Given the description of an element on the screen output the (x, y) to click on. 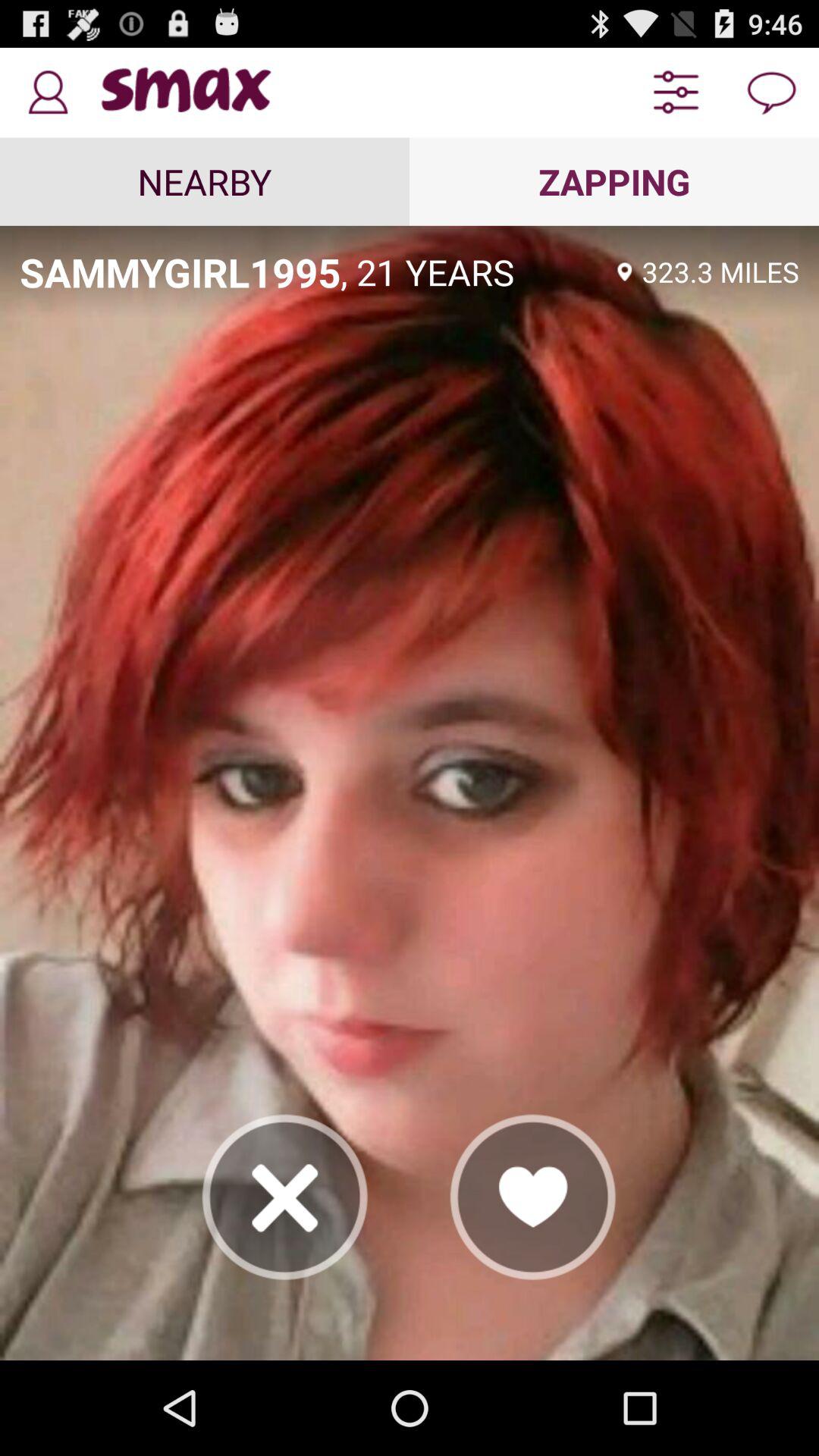
launch nearby app (204, 181)
